Given the description of an element on the screen output the (x, y) to click on. 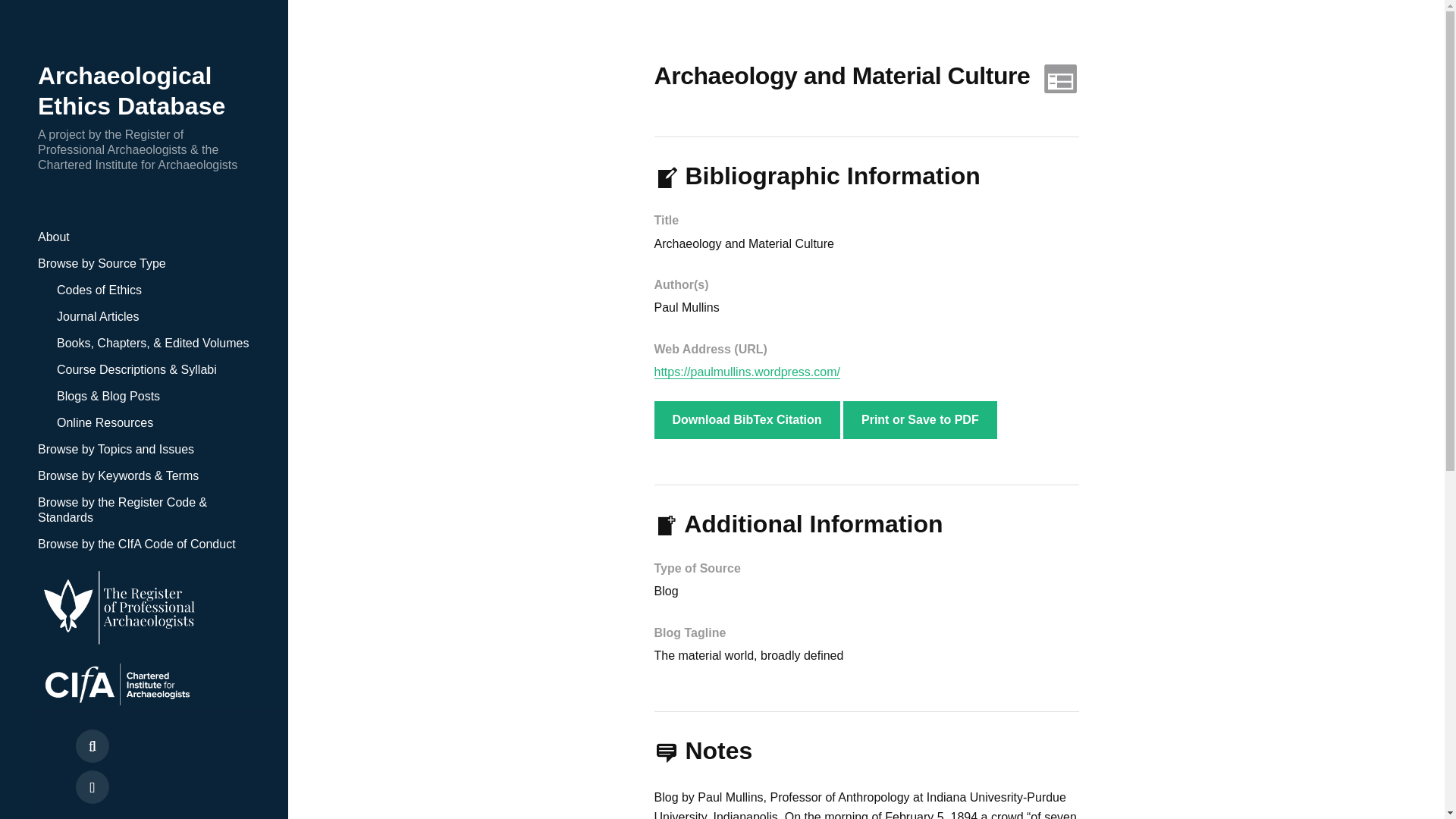
Archaeological Ethics Database (131, 91)
Browse by the CIfA Code of Conduct (136, 544)
Download BibTex Citation (746, 419)
About (53, 237)
Chartered Institute for Archaeologists Homepage (143, 685)
Browse by Source Type (101, 264)
Codes of Ethics (98, 290)
Browse by Topics and Issues (115, 449)
Print or Save to PDF (920, 419)
Register of Public Archaeologists Homepage (143, 604)
